Given the description of an element on the screen output the (x, y) to click on. 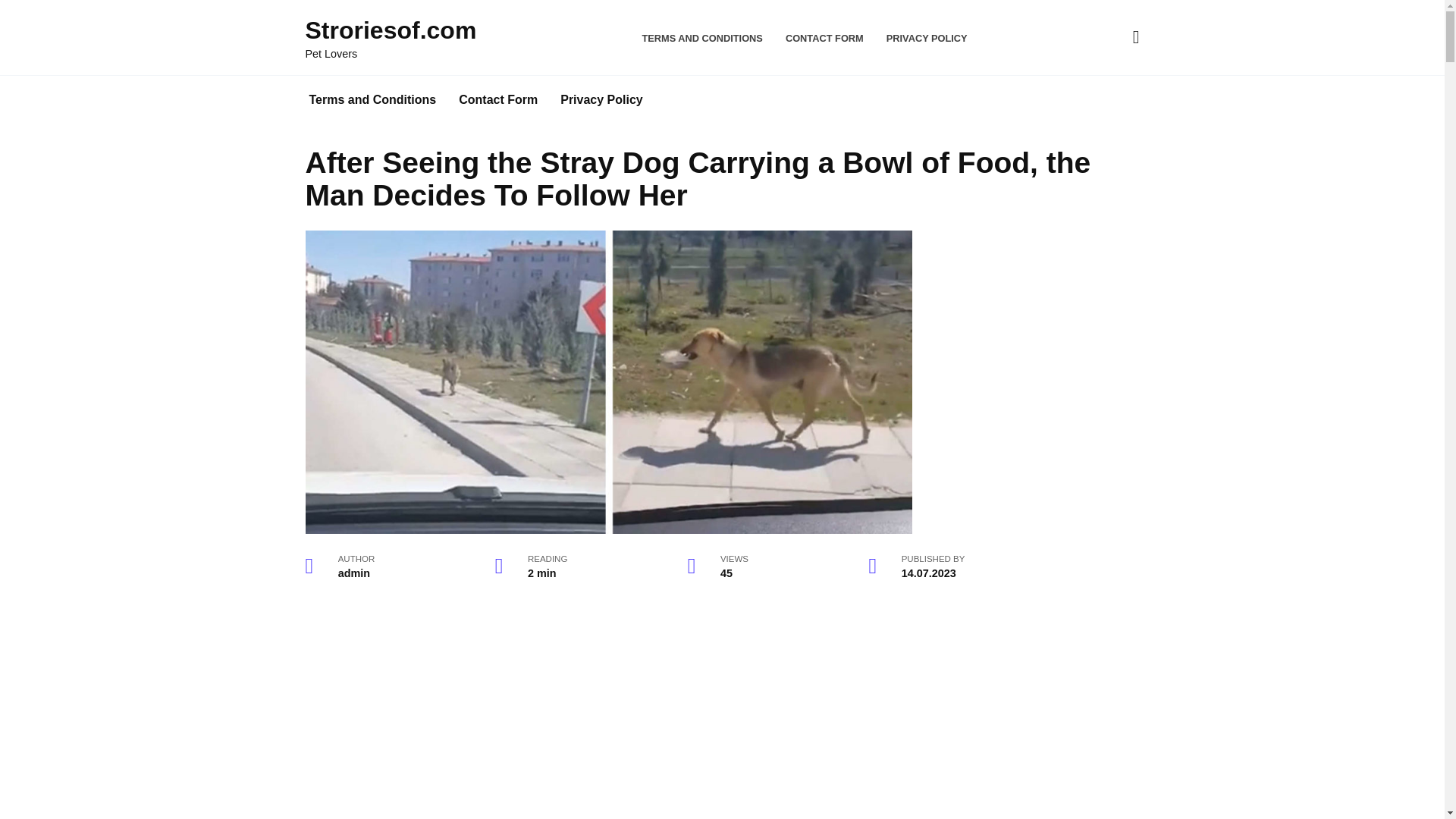
Stroriesof.com (390, 30)
Privacy Policy (600, 100)
PRIVACY POLICY (927, 38)
TERMS AND CONDITIONS (702, 38)
CONTACT FORM (824, 38)
Contact Form (497, 100)
Terms and Conditions (371, 100)
